Given the description of an element on the screen output the (x, y) to click on. 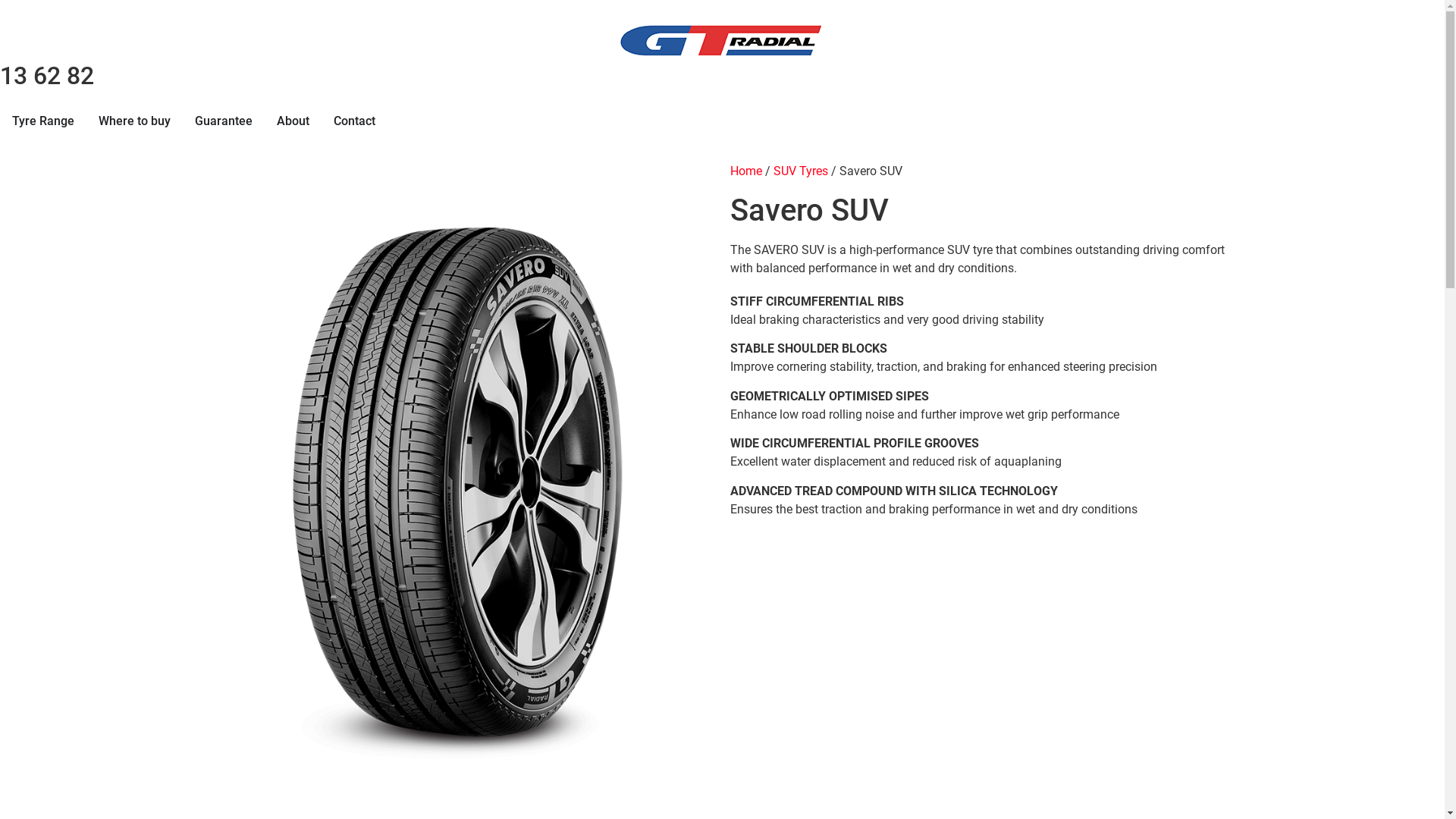
Where to buy Element type: text (134, 121)
13 62 82 Element type: text (47, 75)
Home Element type: text (745, 170)
Tyre Range Element type: text (43, 121)
About Element type: text (292, 121)
SUV Tyres Element type: text (800, 170)
Guarantee Element type: text (223, 121)
Contact Element type: text (354, 121)
